Given the description of an element on the screen output the (x, y) to click on. 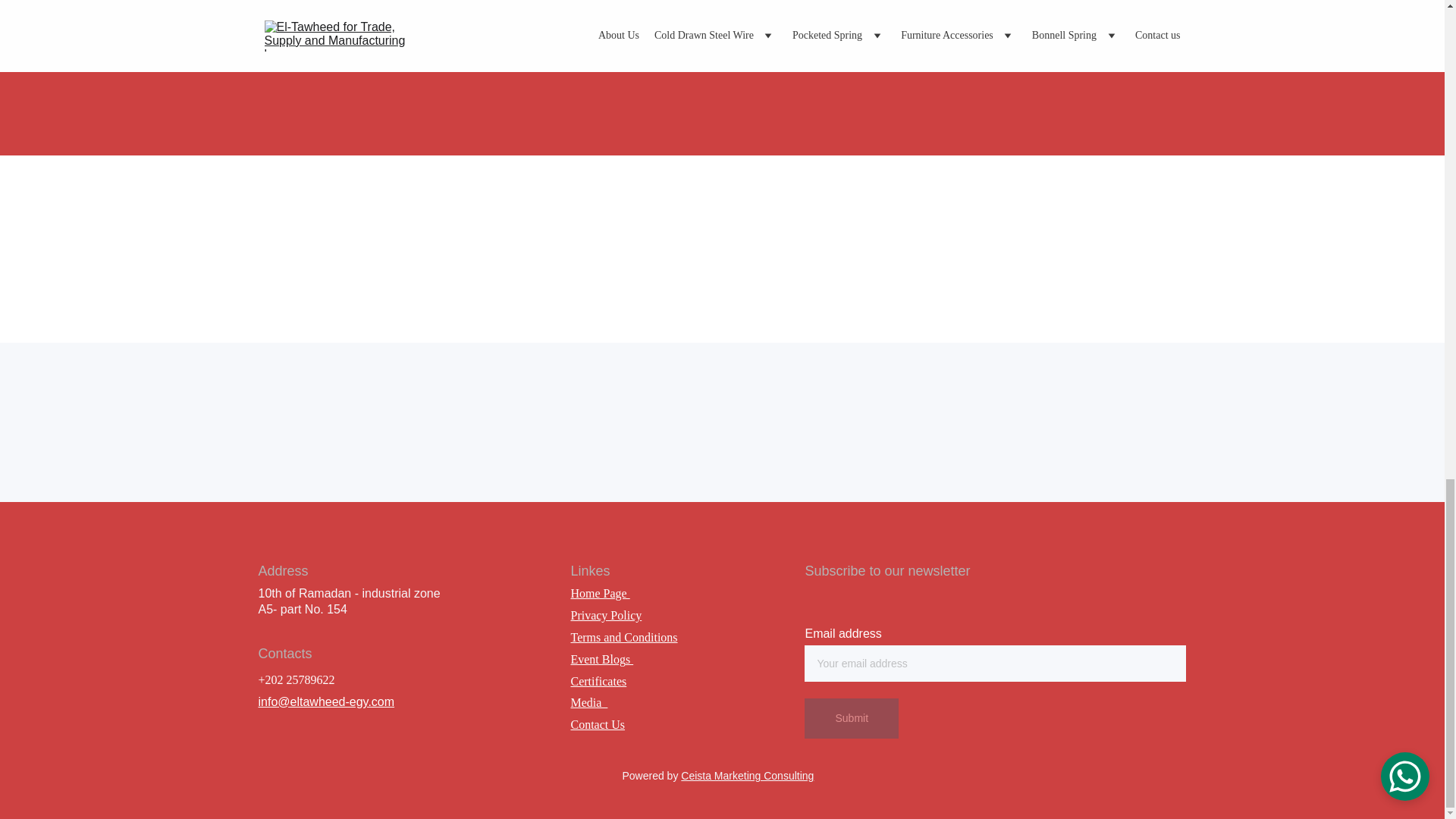
Media (588, 702)
Home Page (599, 593)
Ceista Marketing Consulting (747, 775)
Privacy Policy (606, 615)
Terms and Conditions (623, 636)
Event Blog (597, 658)
Submit (851, 718)
Certificates (598, 680)
Contact Us (597, 724)
